Given the description of an element on the screen output the (x, y) to click on. 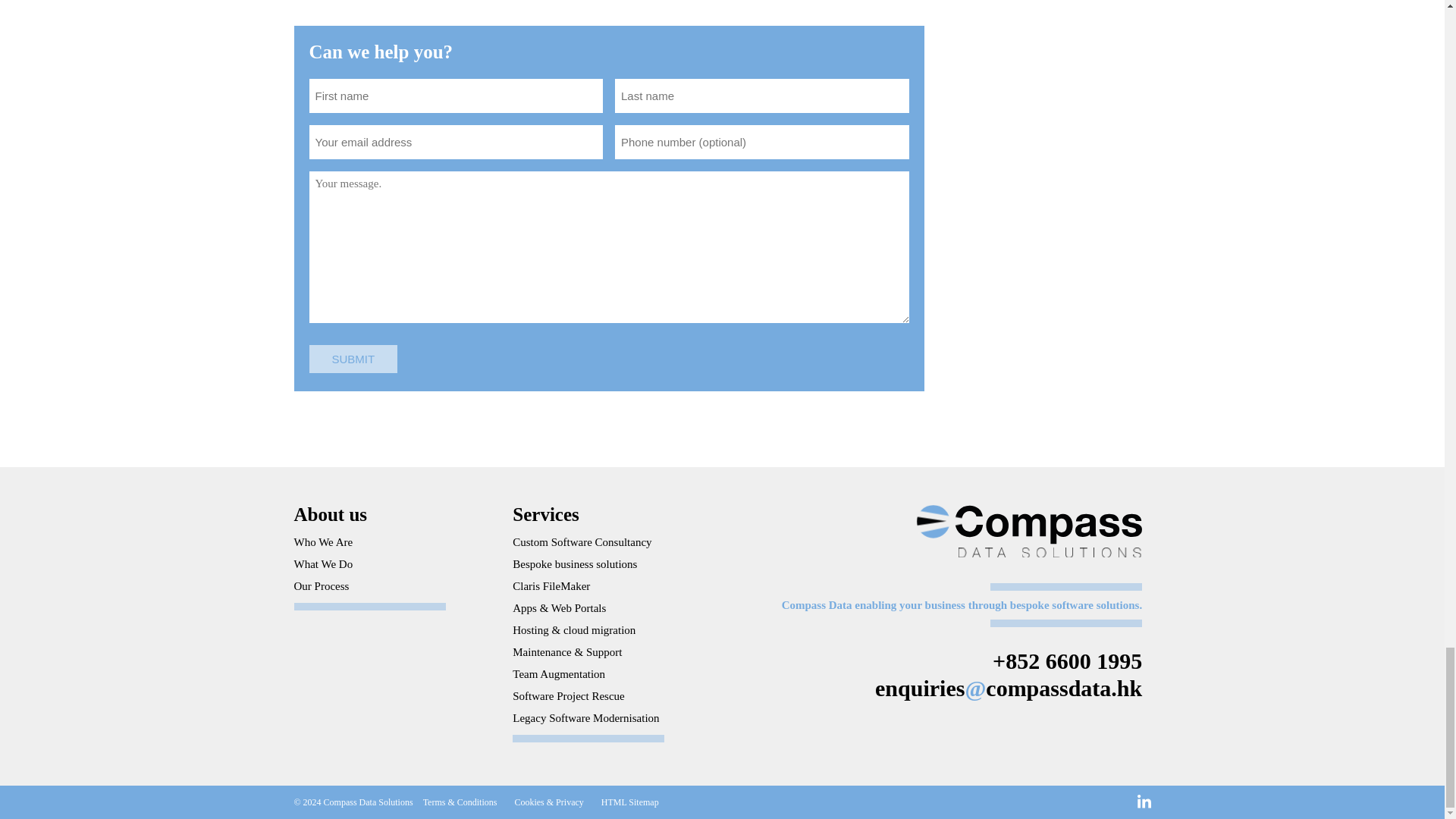
Submit (352, 358)
Submit (352, 358)
